Given the description of an element on the screen output the (x, y) to click on. 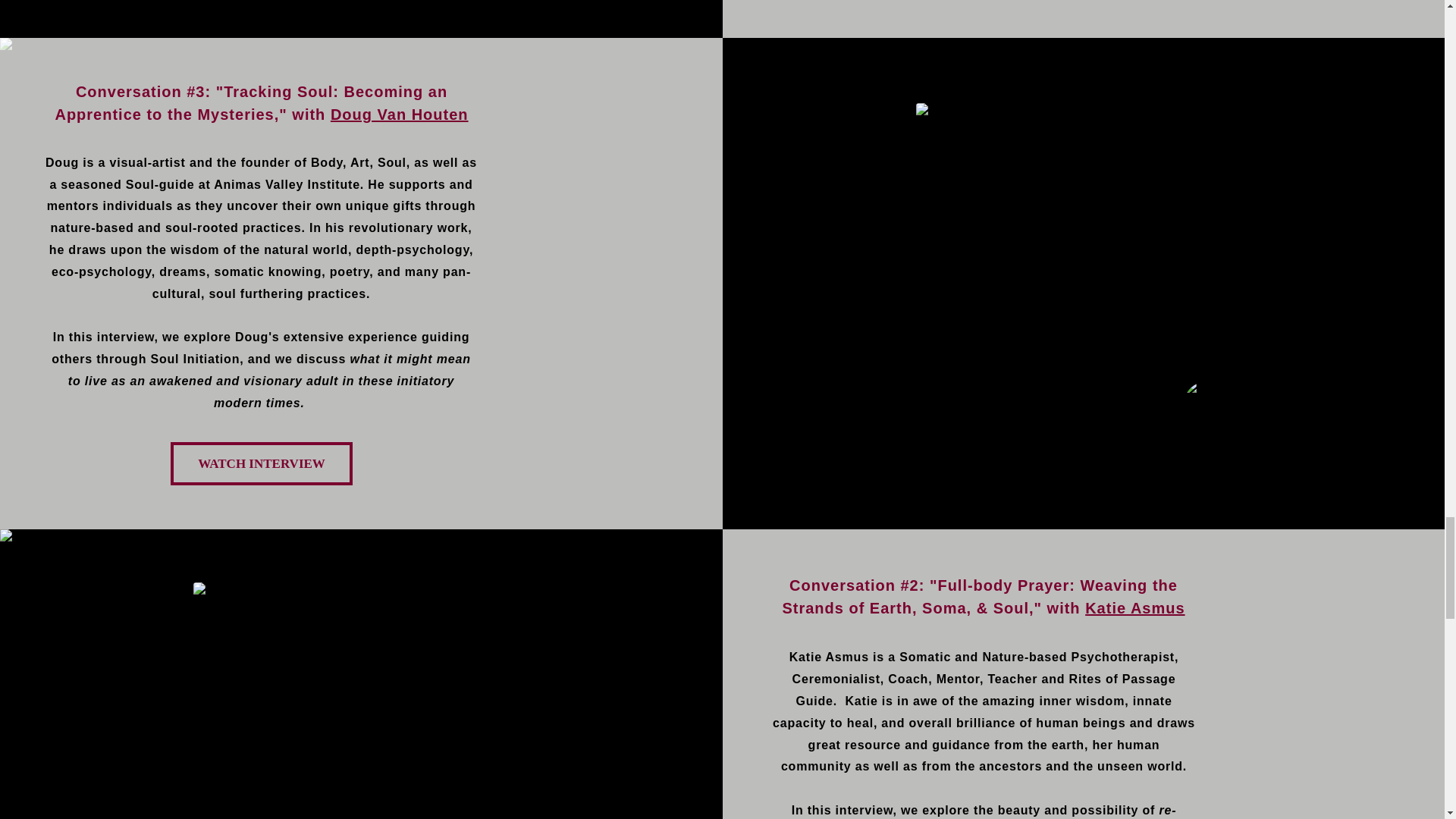
Katie Asmus (1134, 607)
Doug Van Houten (399, 114)
WATCH INTERVIEW (261, 463)
